Given the description of an element on the screen output the (x, y) to click on. 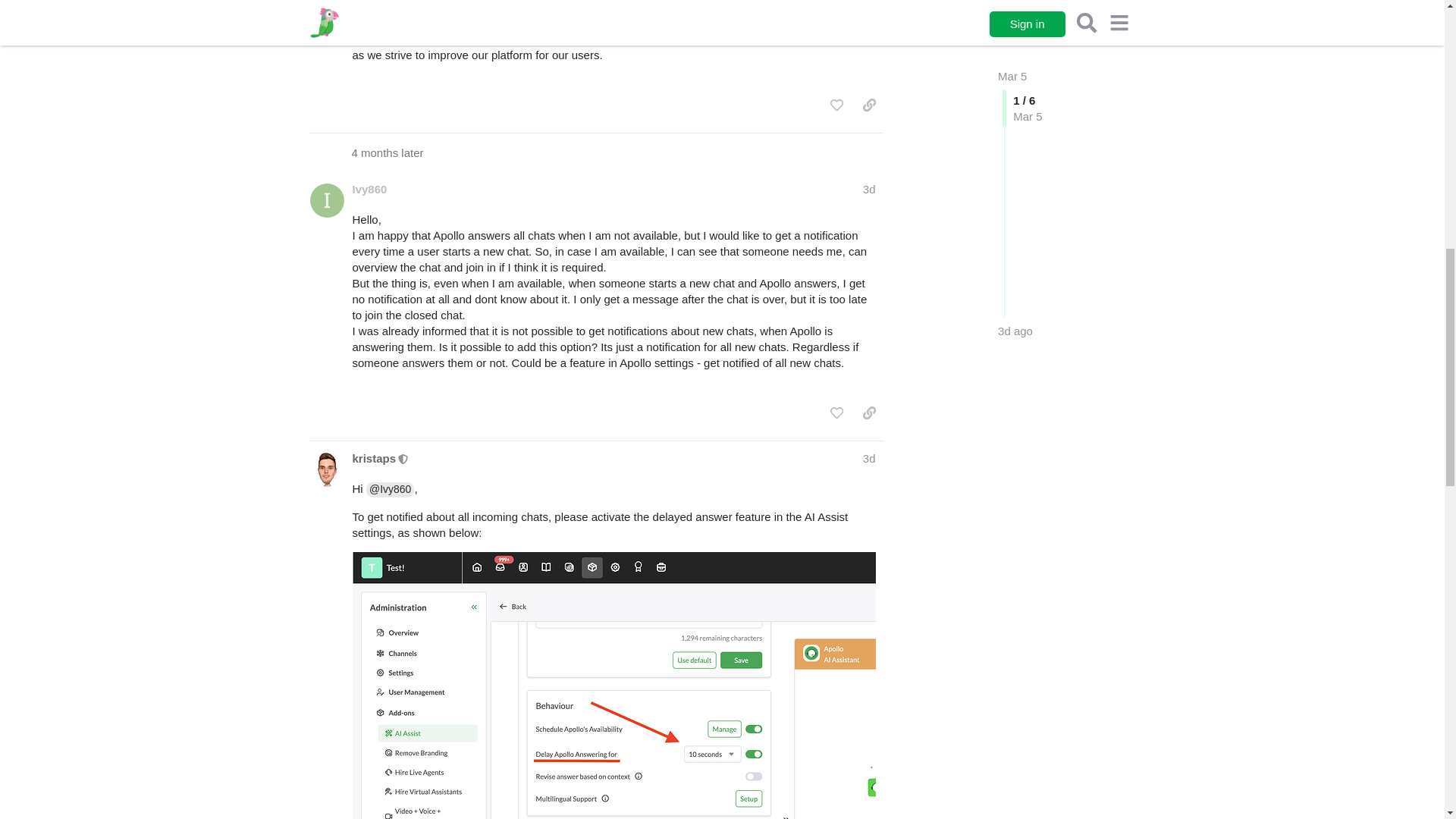
3d (869, 188)
Ivy860 (369, 188)
